Given the description of an element on the screen output the (x, y) to click on. 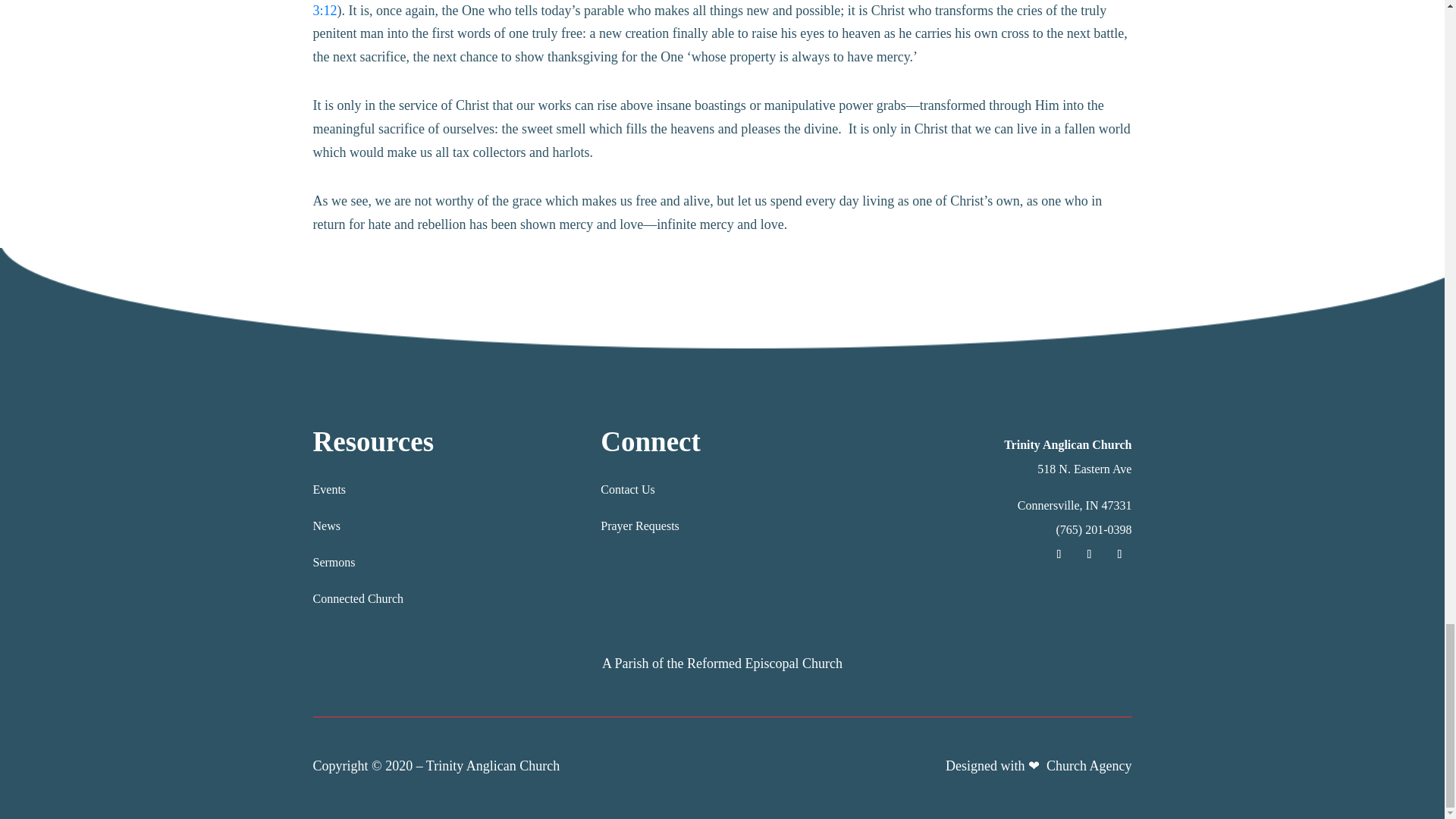
News (326, 525)
Events (329, 489)
Follow on Youtube (1088, 554)
Follow on X (1118, 554)
Sermons (334, 562)
Phil. 3:12 (716, 9)
Follow on Facebook (1058, 554)
